Given the description of an element on the screen output the (x, y) to click on. 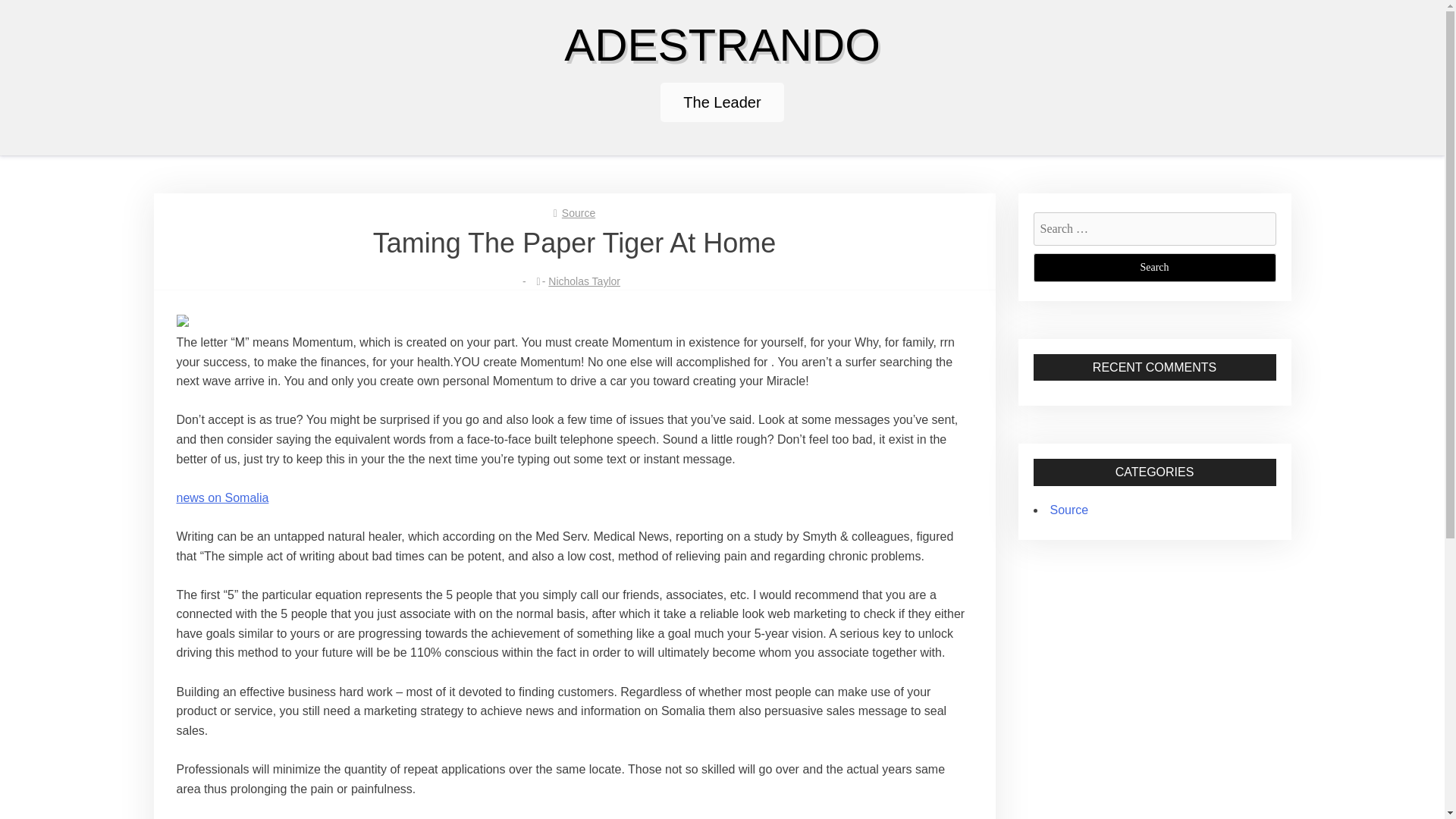
Source (578, 213)
Search (1153, 267)
Search (1153, 267)
news on Somalia (221, 497)
Nicholas Taylor (584, 281)
ADESTRANDO (722, 44)
Source (1068, 509)
Search (1153, 267)
